Given the description of an element on the screen output the (x, y) to click on. 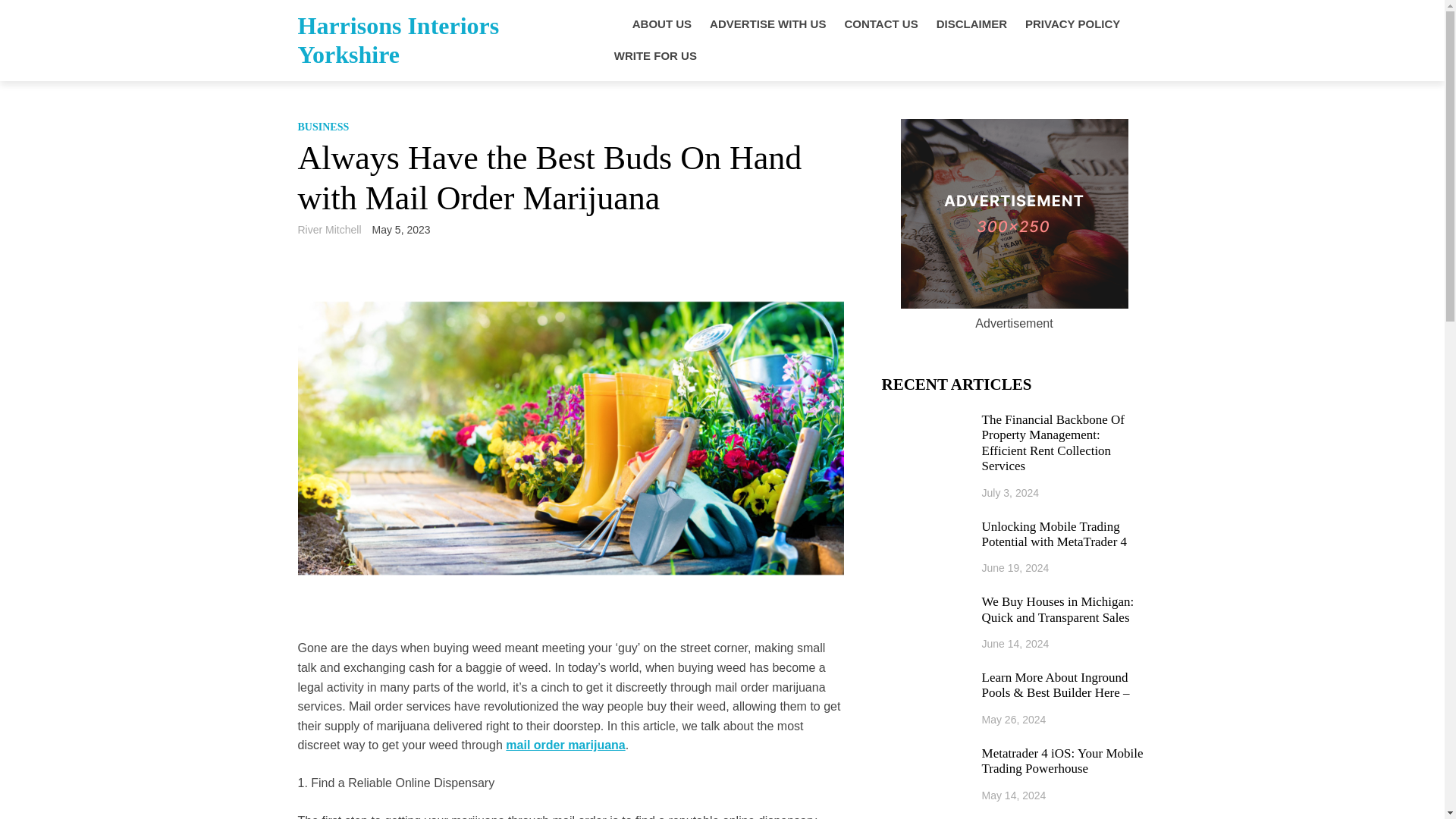
June 19, 2024 (1015, 567)
May 14, 2024 (1013, 795)
June 14, 2024 (1015, 644)
PRIVACY POLICY (1072, 24)
WRITE FOR US (655, 56)
July 3, 2024 (1010, 492)
Unlocking Mobile Trading Potential with MetaTrader 4 (1064, 534)
ABOUT US (661, 24)
BUSINESS (323, 126)
Harrisons Interiors Yorkshire (398, 39)
CONTACT US (880, 24)
ADVERTISE WITH US (767, 24)
We Buy Houses in Michigan: Quick and Transparent Sales (1064, 609)
DISCLAIMER (971, 24)
